Given the description of an element on the screen output the (x, y) to click on. 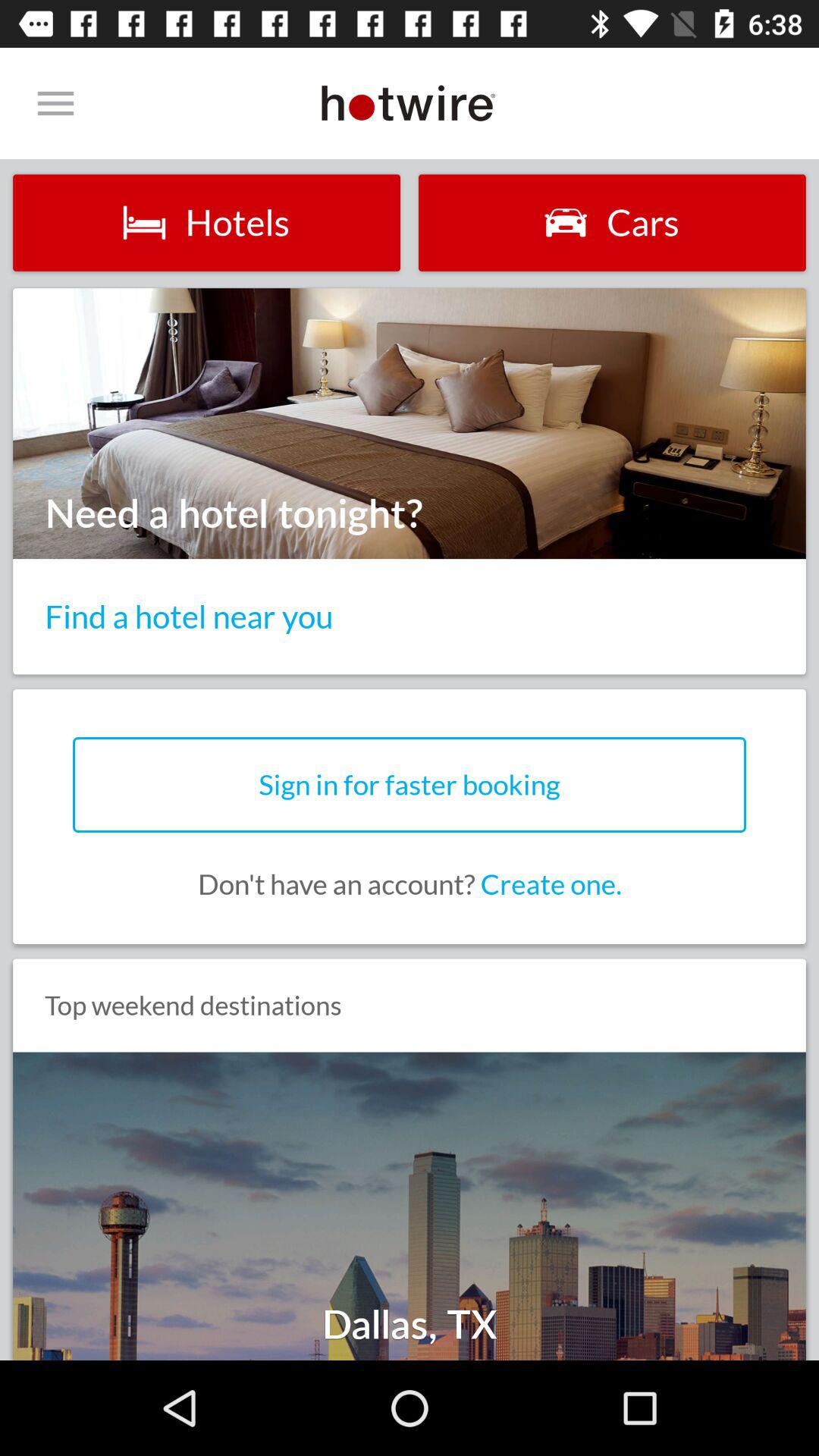
click item below the sign in for item (409, 884)
